Given the description of an element on the screen output the (x, y) to click on. 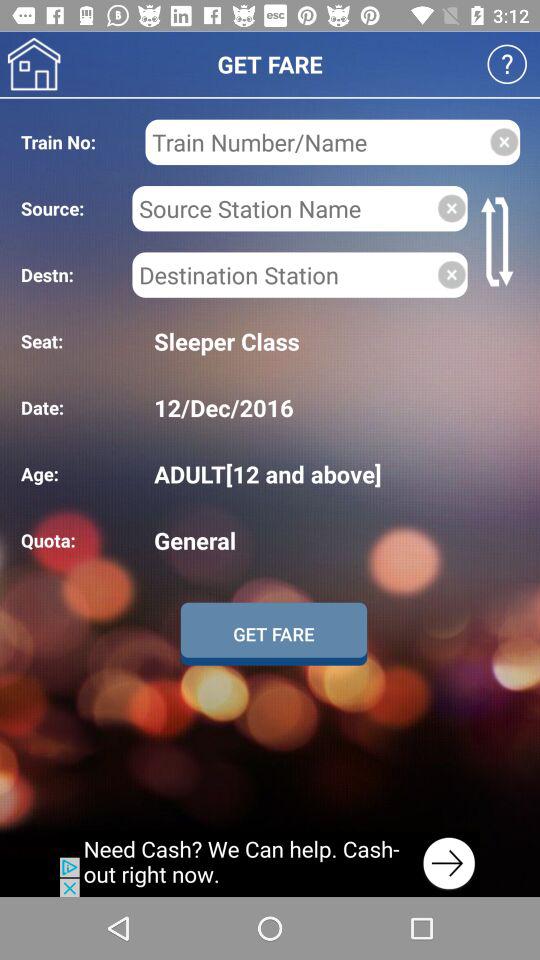
enter destination location (284, 274)
